Given the description of an element on the screen output the (x, y) to click on. 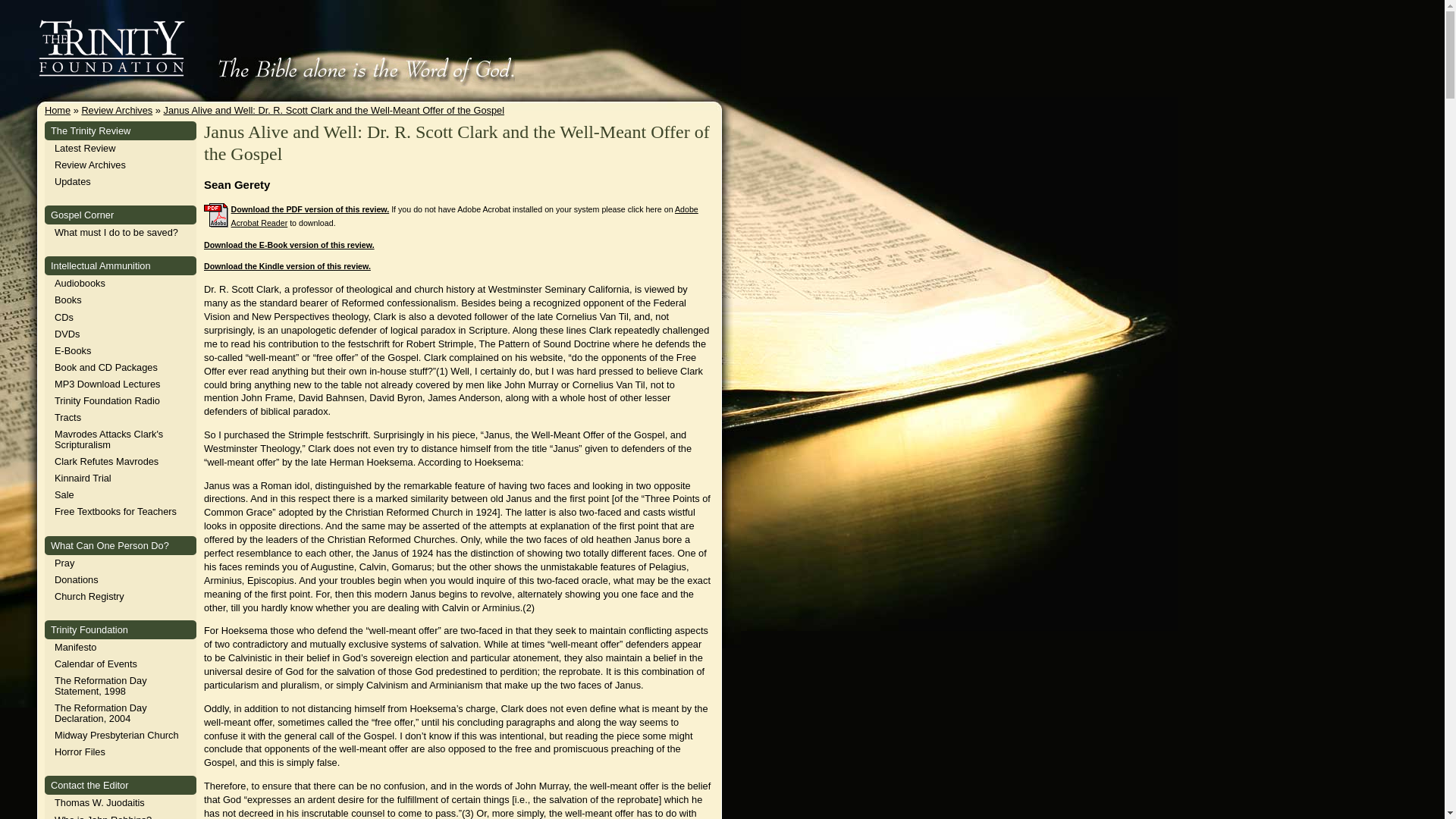
Church Registry (89, 595)
Clark Refutes Mavrodes (106, 460)
Pray (64, 562)
E-Books (72, 350)
Review Archives (90, 164)
Updates (72, 181)
Free Textbooks for Teachers (115, 511)
The Reformation Day Statement, 1998 (101, 685)
Calendar of Events (95, 663)
Adobe Acrobat Reader (464, 215)
MP3 Download Lectures (107, 383)
Who is John Robbins? (103, 816)
Midway Presbyterian Church (117, 735)
Trinity Foundation Radio (107, 400)
Review Archives (116, 110)
